Given the description of an element on the screen output the (x, y) to click on. 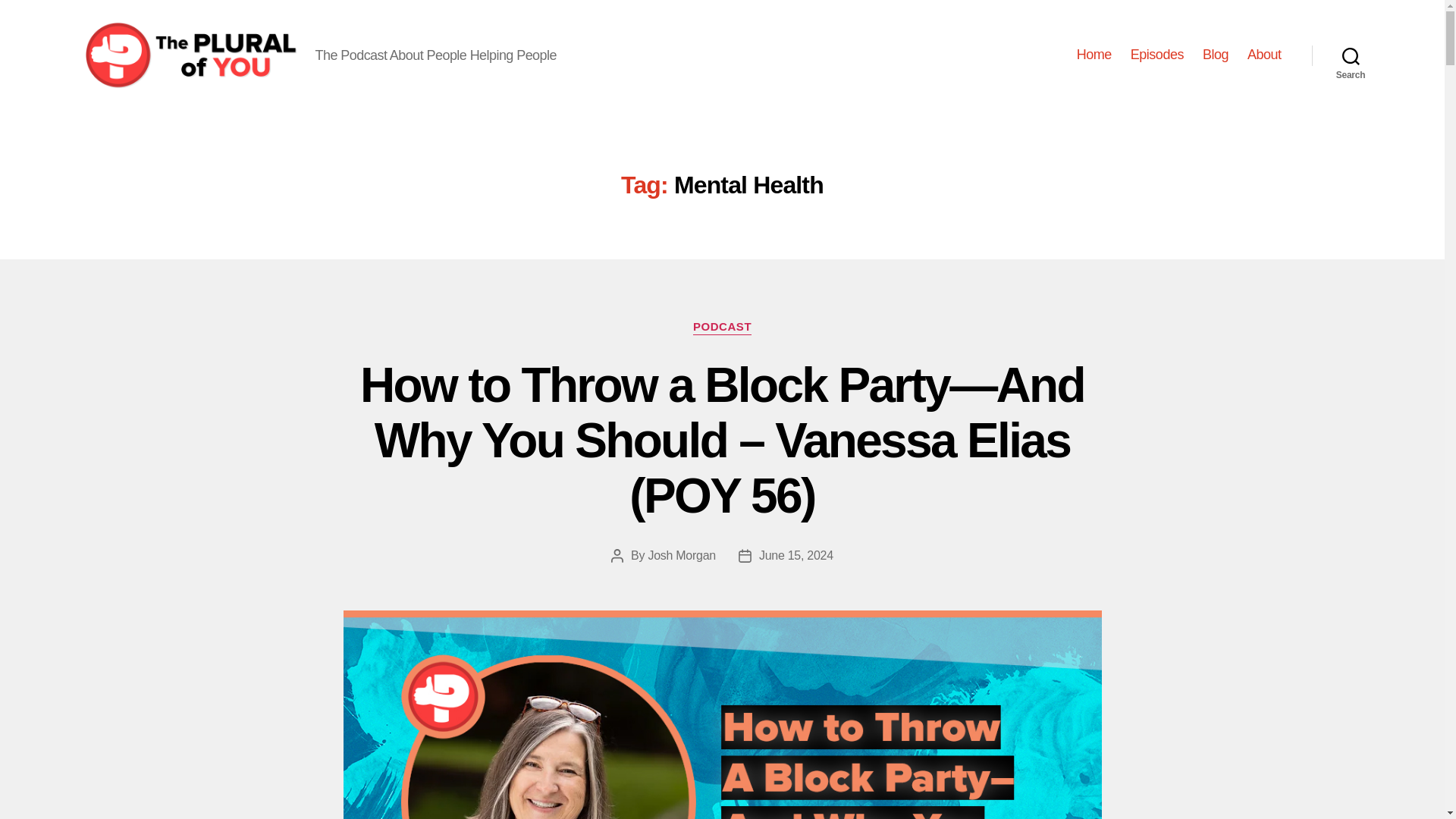
About (1264, 54)
Blog (1215, 54)
Search (1350, 55)
Episodes (1157, 54)
PODCAST (722, 327)
June 15, 2024 (795, 554)
Josh Morgan (681, 554)
Home (1094, 54)
